Given the description of an element on the screen output the (x, y) to click on. 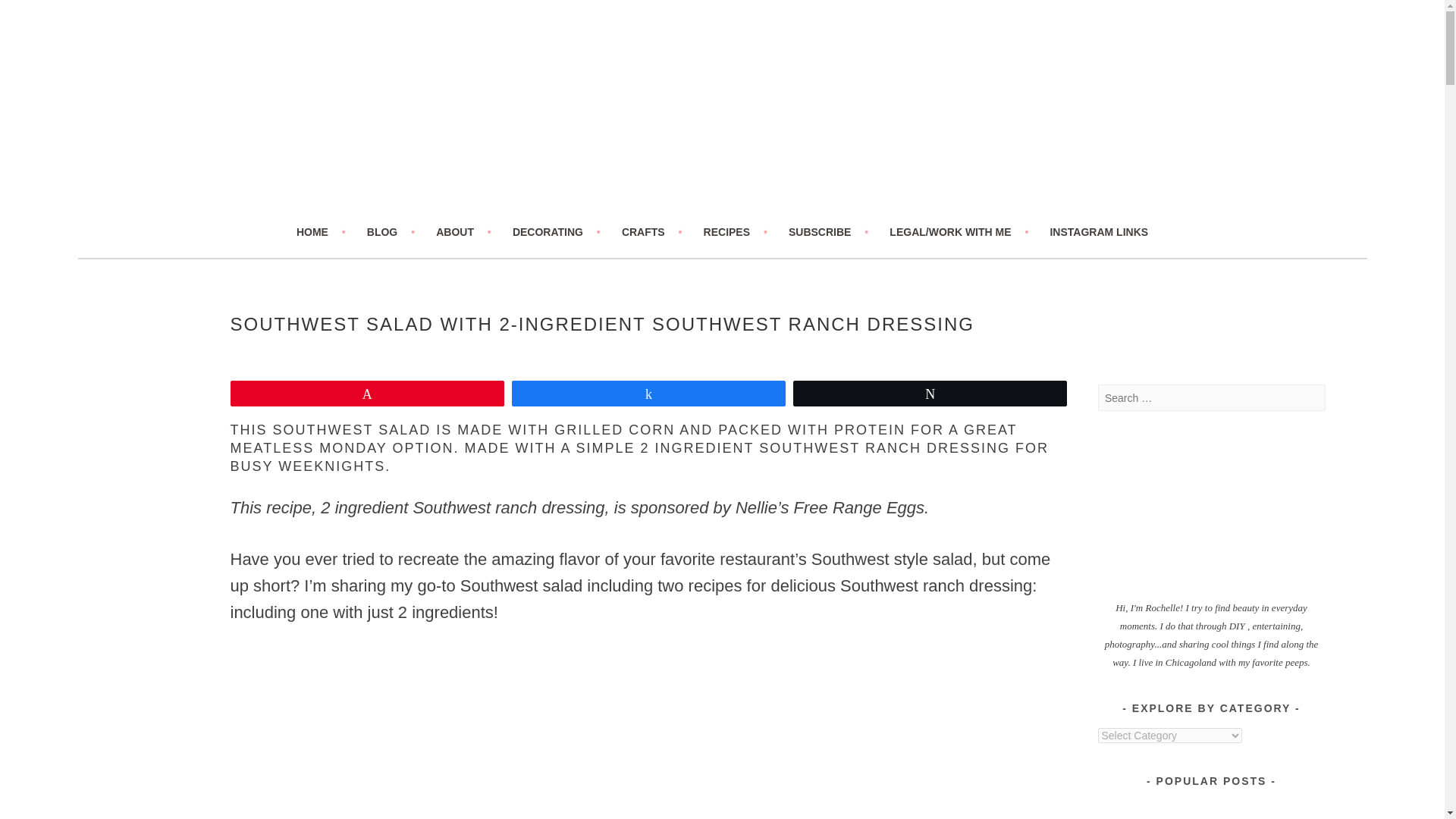
FIVE MARIGOLDS (264, 214)
Five Marigolds (264, 214)
INSTAGRAM LINKS (1098, 231)
CRAFTS (651, 231)
Search (30, 13)
RECIPES (735, 231)
BLOG (390, 231)
SUBSCRIBE (828, 231)
HOME (321, 231)
DECORATING (555, 231)
